Given the description of an element on the screen output the (x, y) to click on. 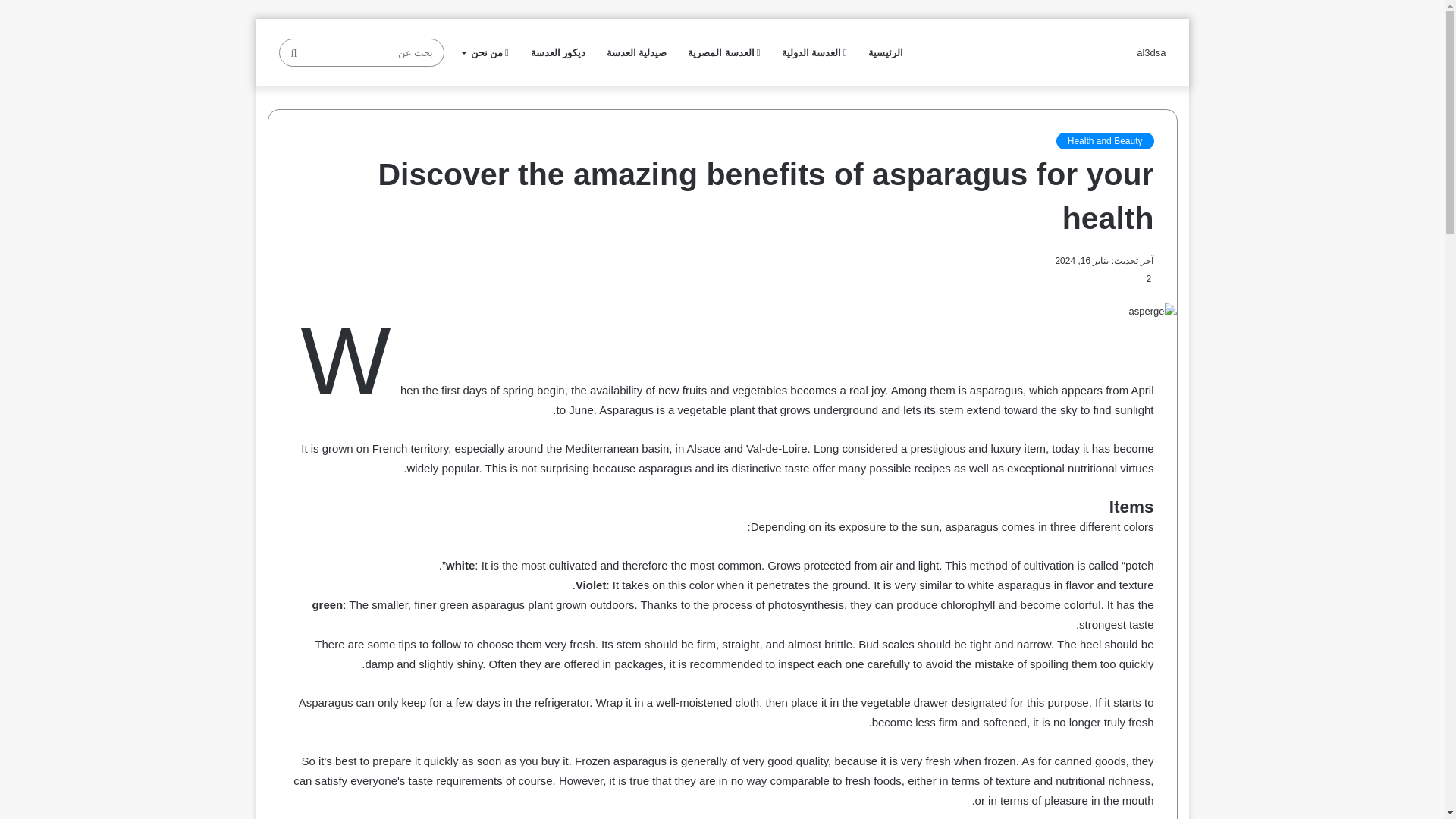
al3dsa (1151, 52)
Health and Beauty (1105, 140)
al3dsa (1151, 52)
